Given the description of an element on the screen output the (x, y) to click on. 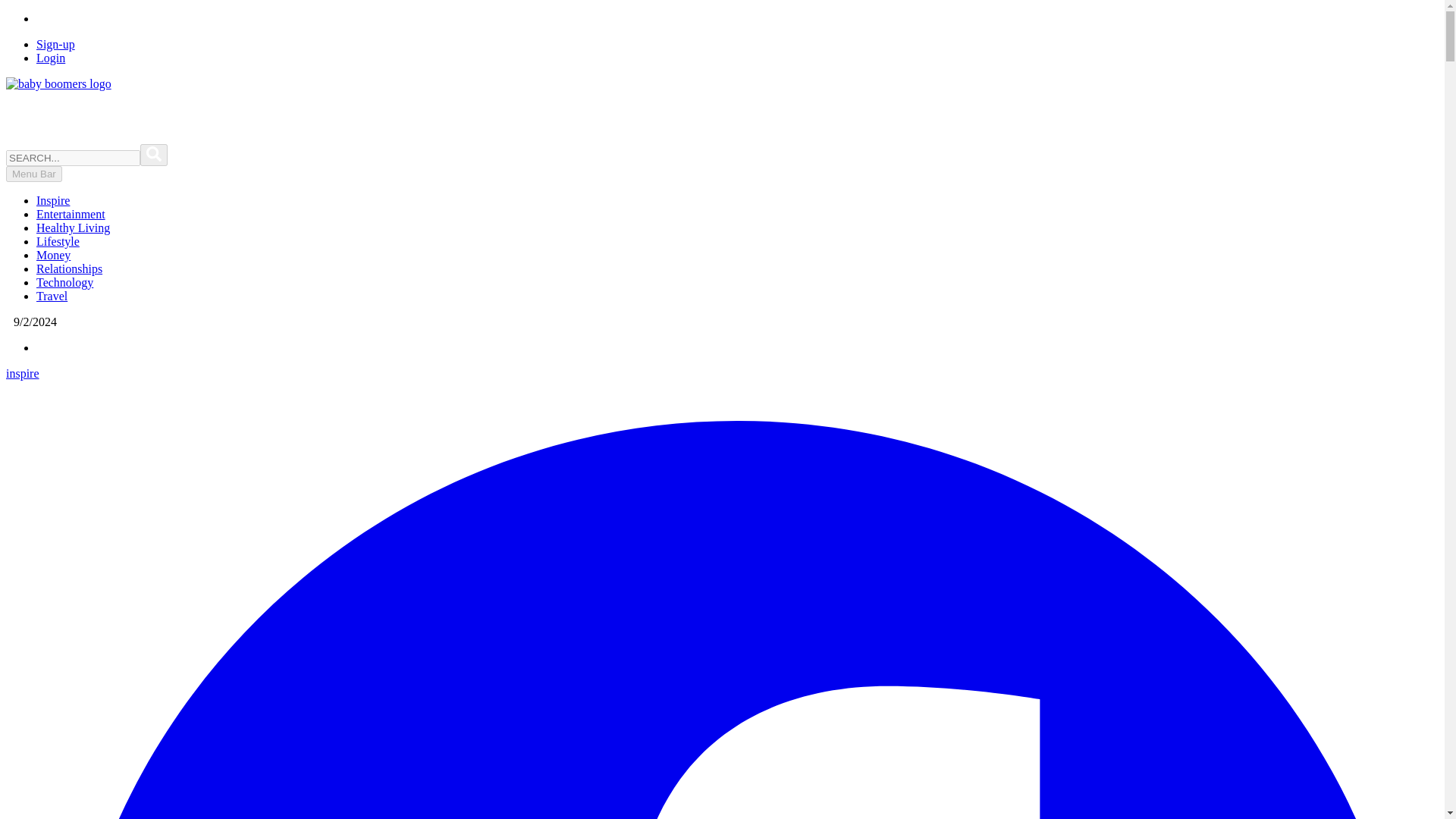
Menu Bar (33, 173)
Inspire (52, 200)
Technology (64, 282)
Travel (51, 295)
Money (52, 254)
inspire (22, 373)
Login (50, 57)
Healthy Living (73, 227)
Entertainment (70, 214)
Lifestyle (58, 241)
